Given the description of an element on the screen output the (x, y) to click on. 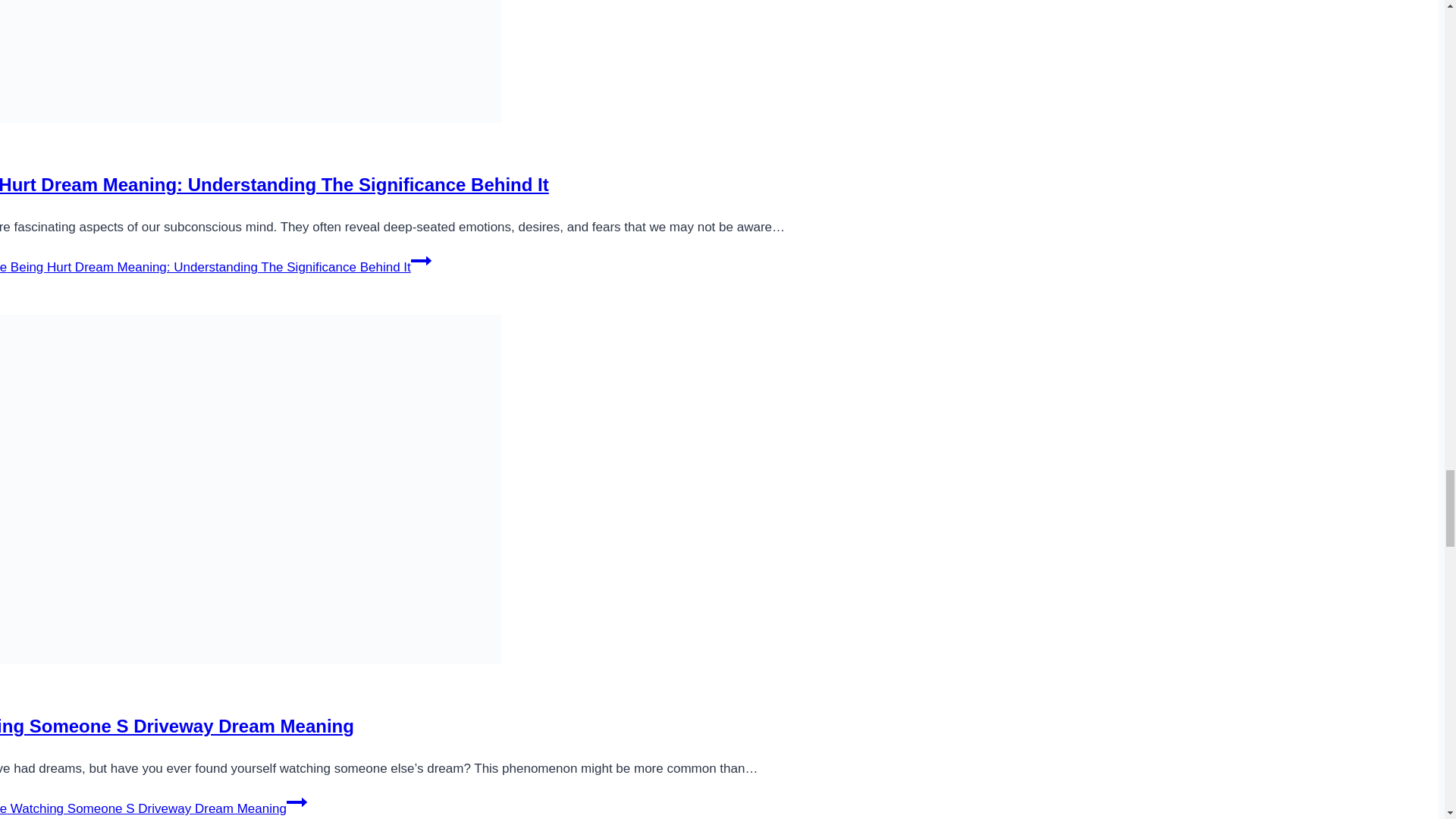
Continue (420, 260)
Continue (296, 802)
